Given the description of an element on the screen output the (x, y) to click on. 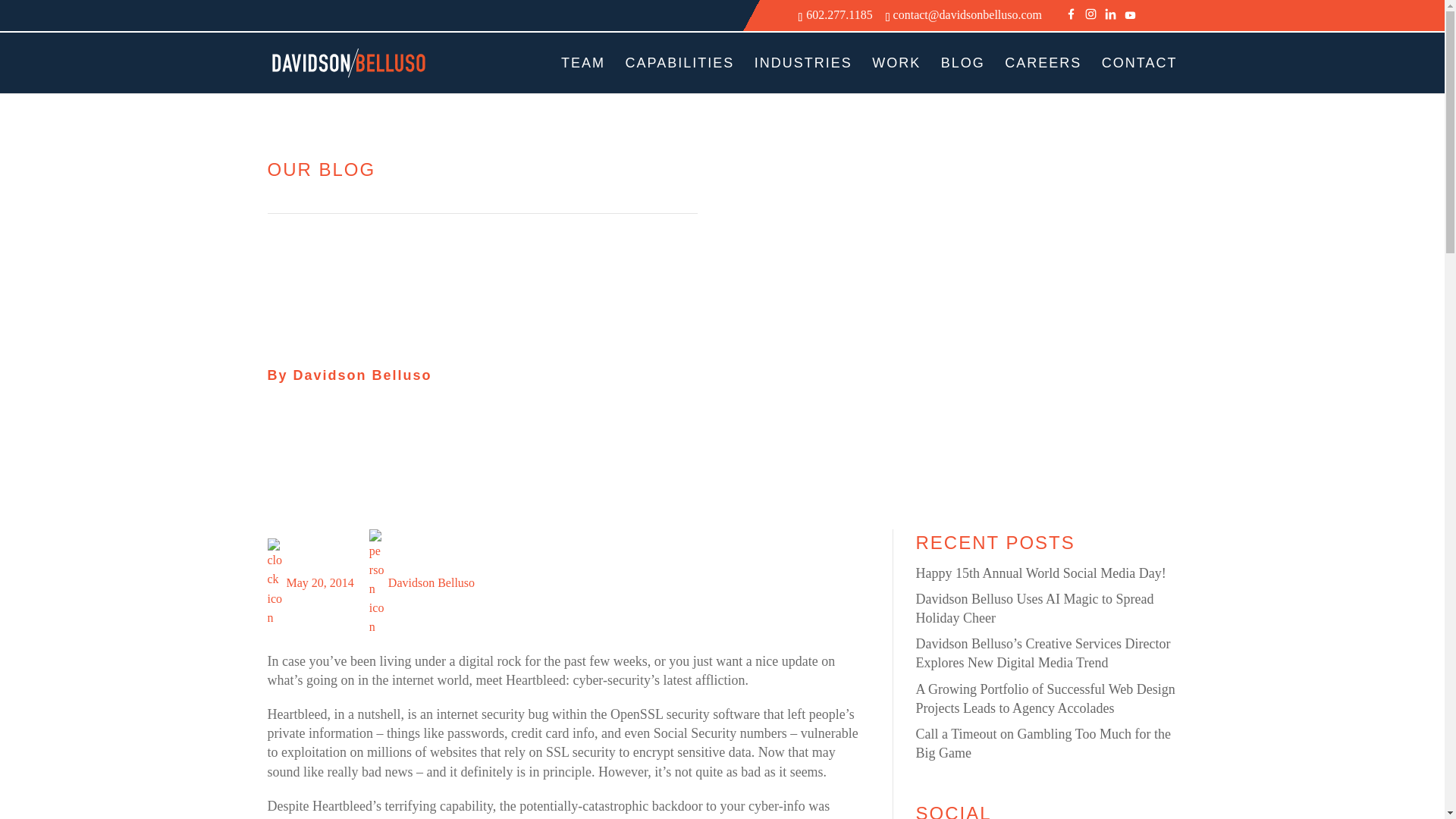
602.277.1185 (839, 14)
TEAM (582, 75)
INDUSTRIES (802, 75)
CAPABILITIES (680, 75)
BLOG (962, 75)
Happy 15th Annual World Social Media Day! (1040, 572)
CAREERS (1042, 75)
WORK (896, 75)
Call a Timeout on Gambling Too Much for the Big Game (1042, 743)
Davidson Belluso Uses AI Magic to Spread Holiday Cheer (1034, 608)
CONTACT (1139, 75)
